Given the description of an element on the screen output the (x, y) to click on. 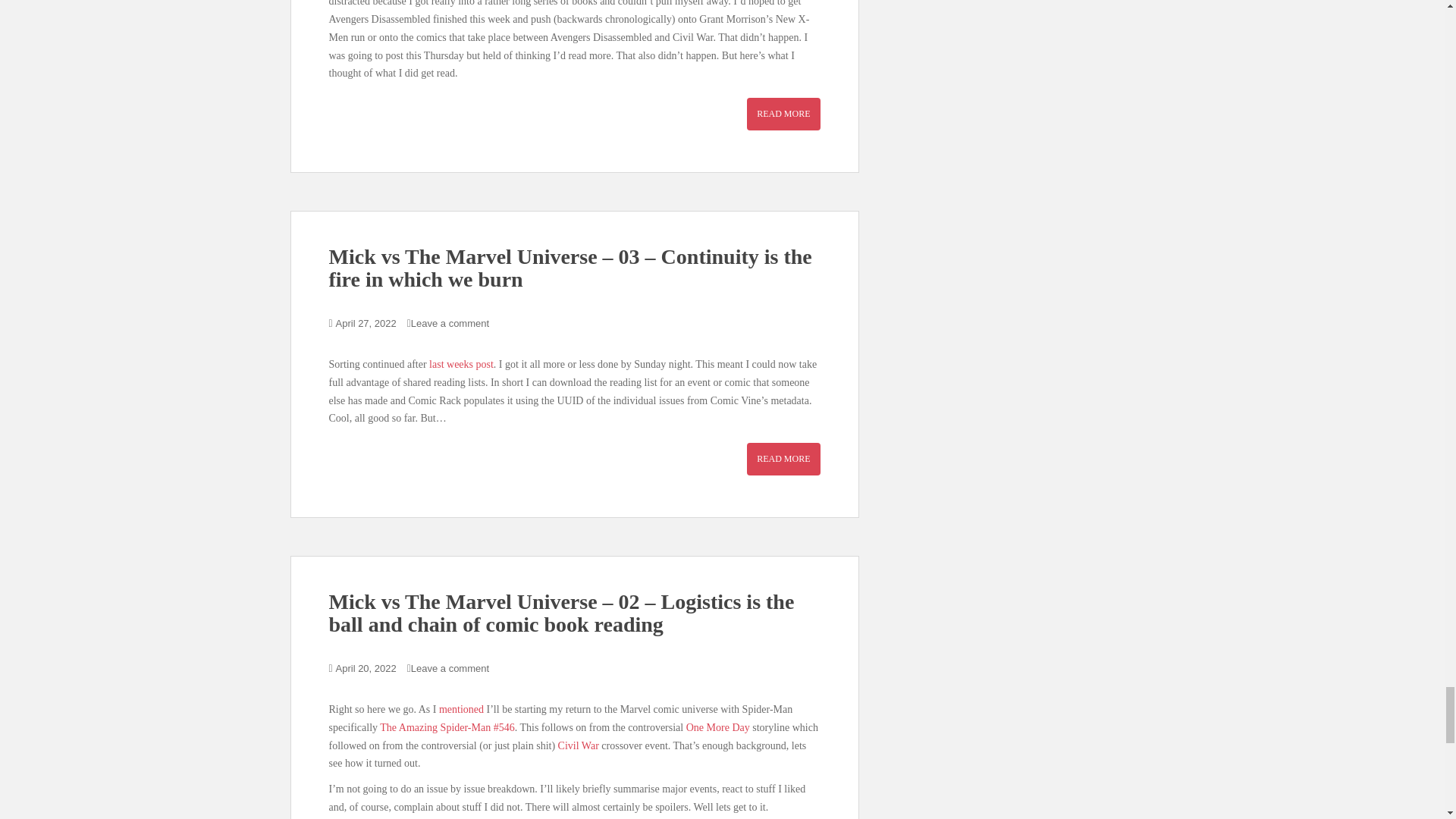
READ MORE (782, 113)
